Given the description of an element on the screen output the (x, y) to click on. 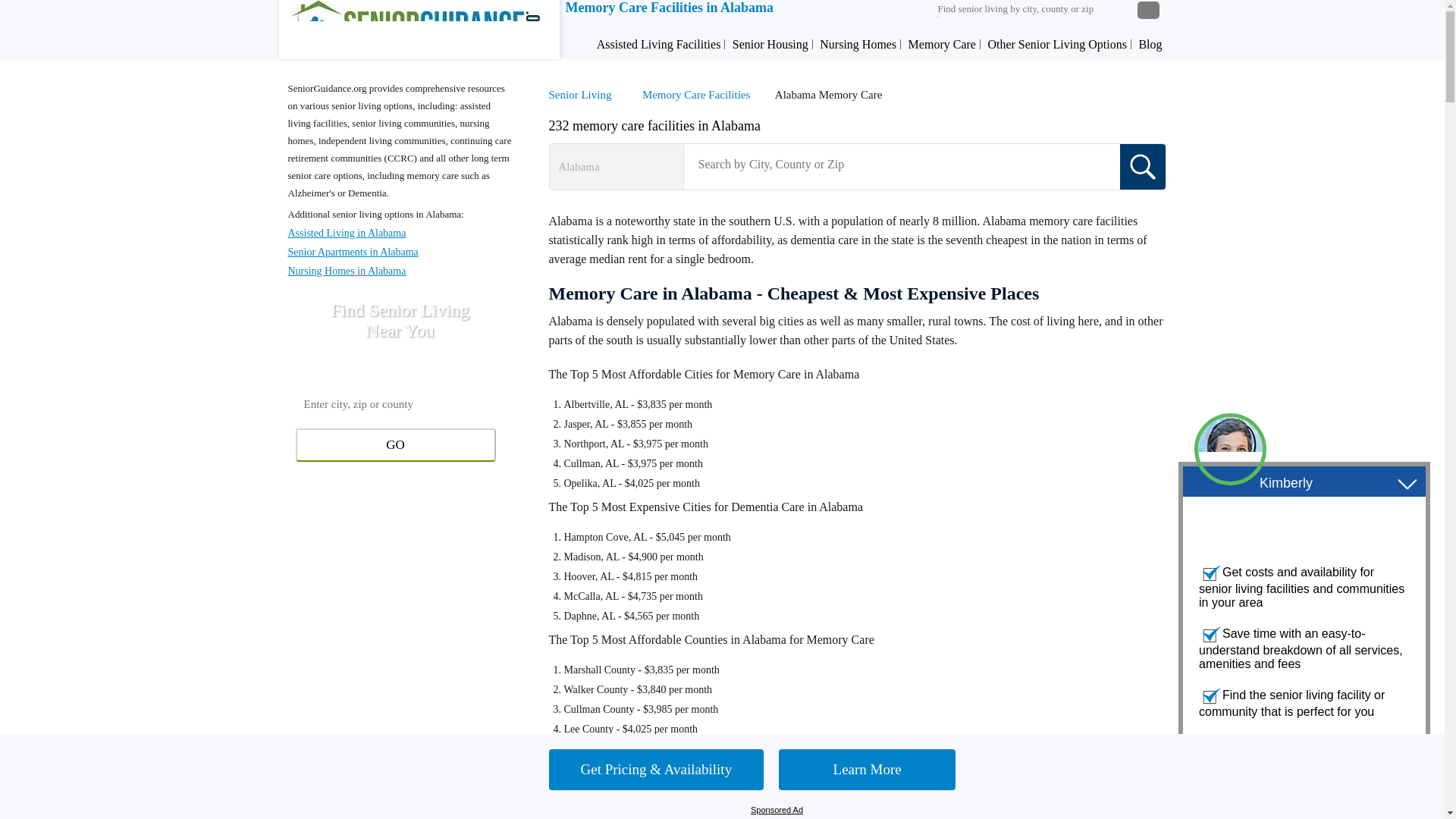
Senior Guidance (418, 27)
Senior Housing (770, 44)
Senior Housing Near Me (770, 44)
Memory Care (941, 44)
Senior Living (584, 94)
Other Senior Living Options (1056, 44)
GO (395, 444)
Memory Care (699, 94)
Assisted Living Facilities Near Me (658, 44)
Blog (1149, 44)
Memory Care Near Me (941, 44)
Nursing Homes Near Me (857, 44)
Nursing Homes (857, 44)
Senior Living (584, 94)
Memory Care Facilities (699, 94)
